Given the description of an element on the screen output the (x, y) to click on. 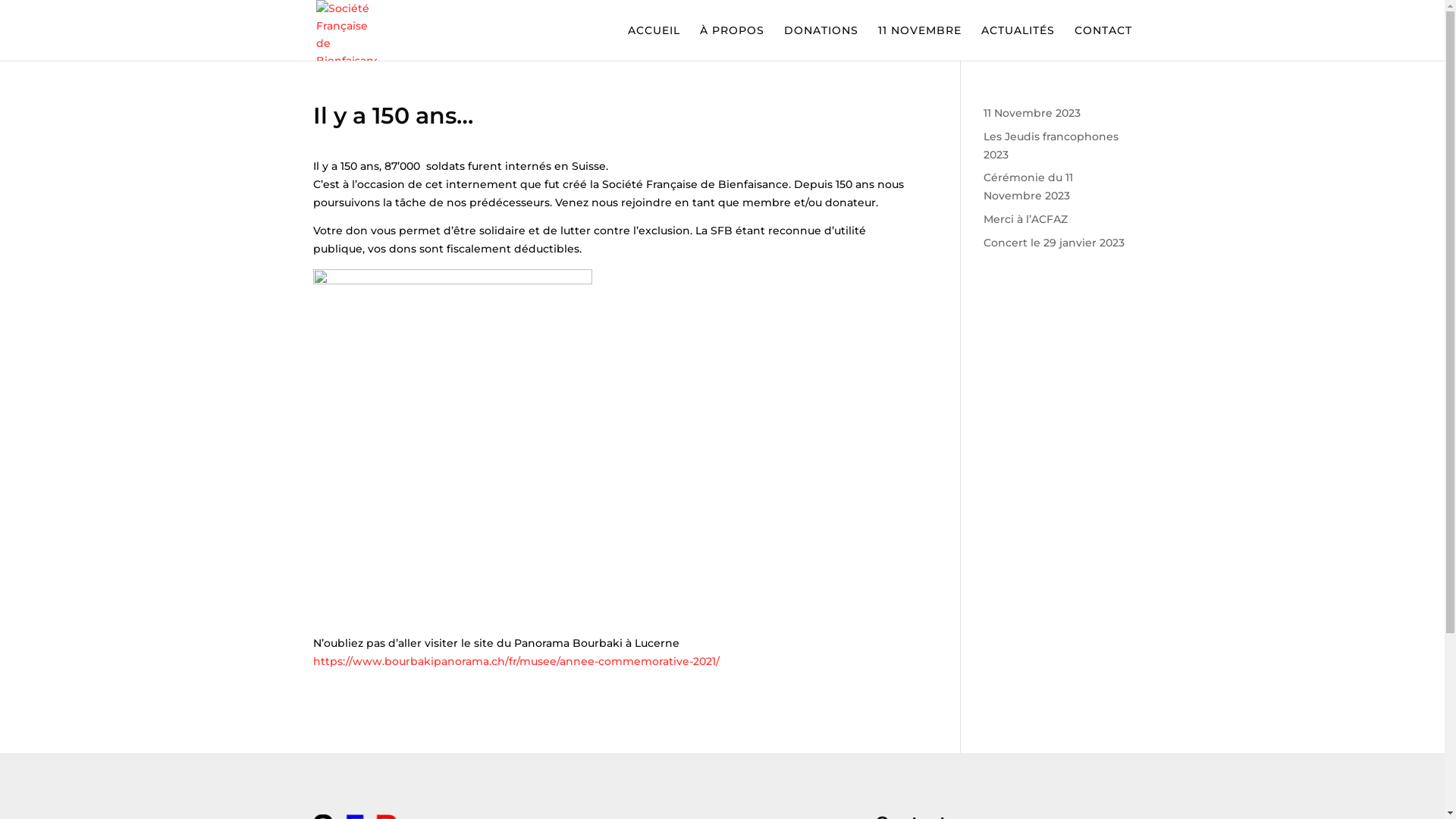
DONATIONS Element type: text (821, 42)
11 Novembre 2023 Element type: text (1031, 112)
Concert le 29 janvier 2023 Element type: text (1053, 242)
11 NOVEMBRE Element type: text (919, 42)
Les Jeudis francophones 2023 Element type: text (1050, 145)
ACCUEIL Element type: text (653, 42)
CONTACT Element type: text (1102, 42)
